Given the description of an element on the screen output the (x, y) to click on. 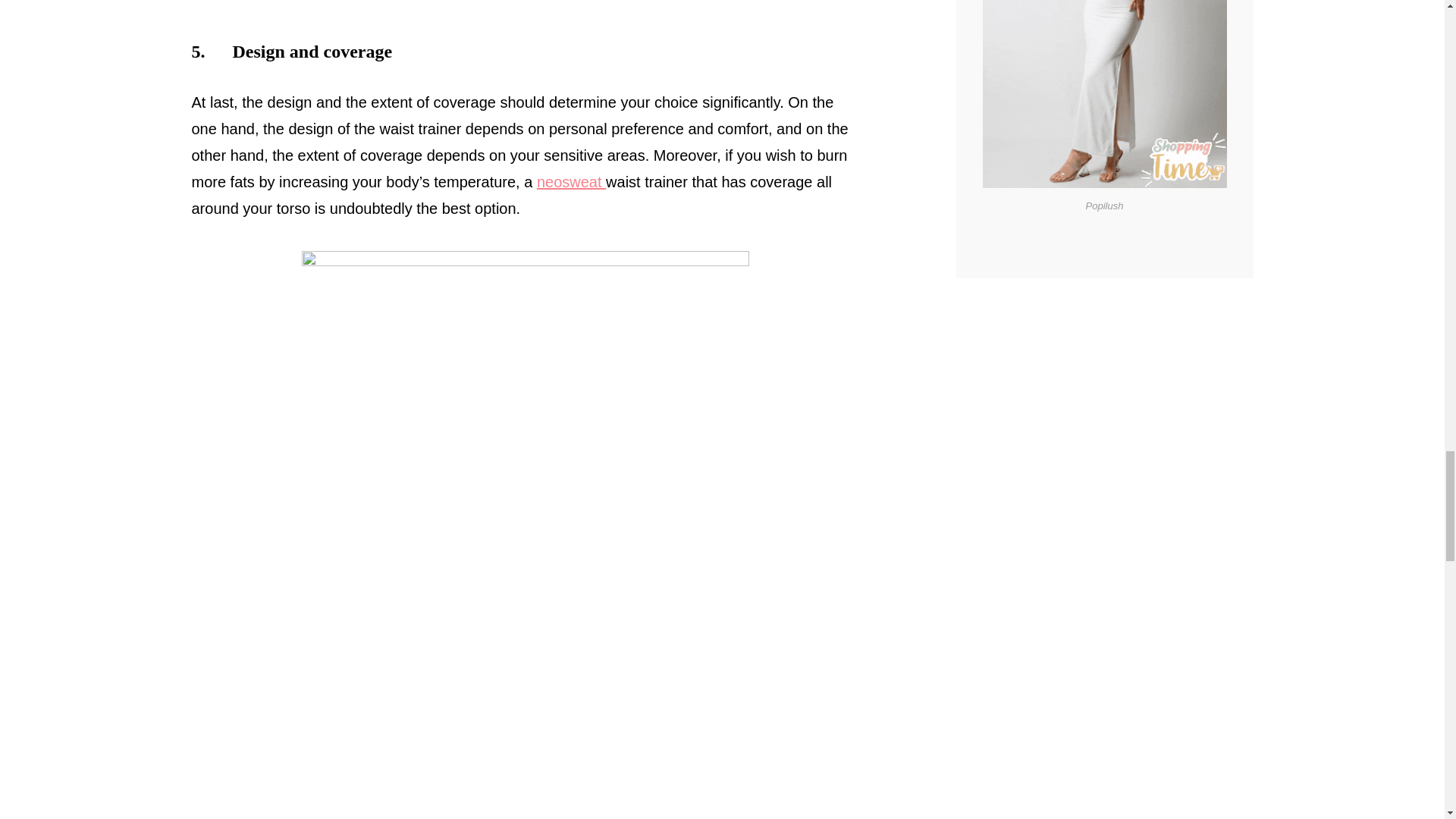
neosweat (571, 181)
